Given the description of an element on the screen output the (x, y) to click on. 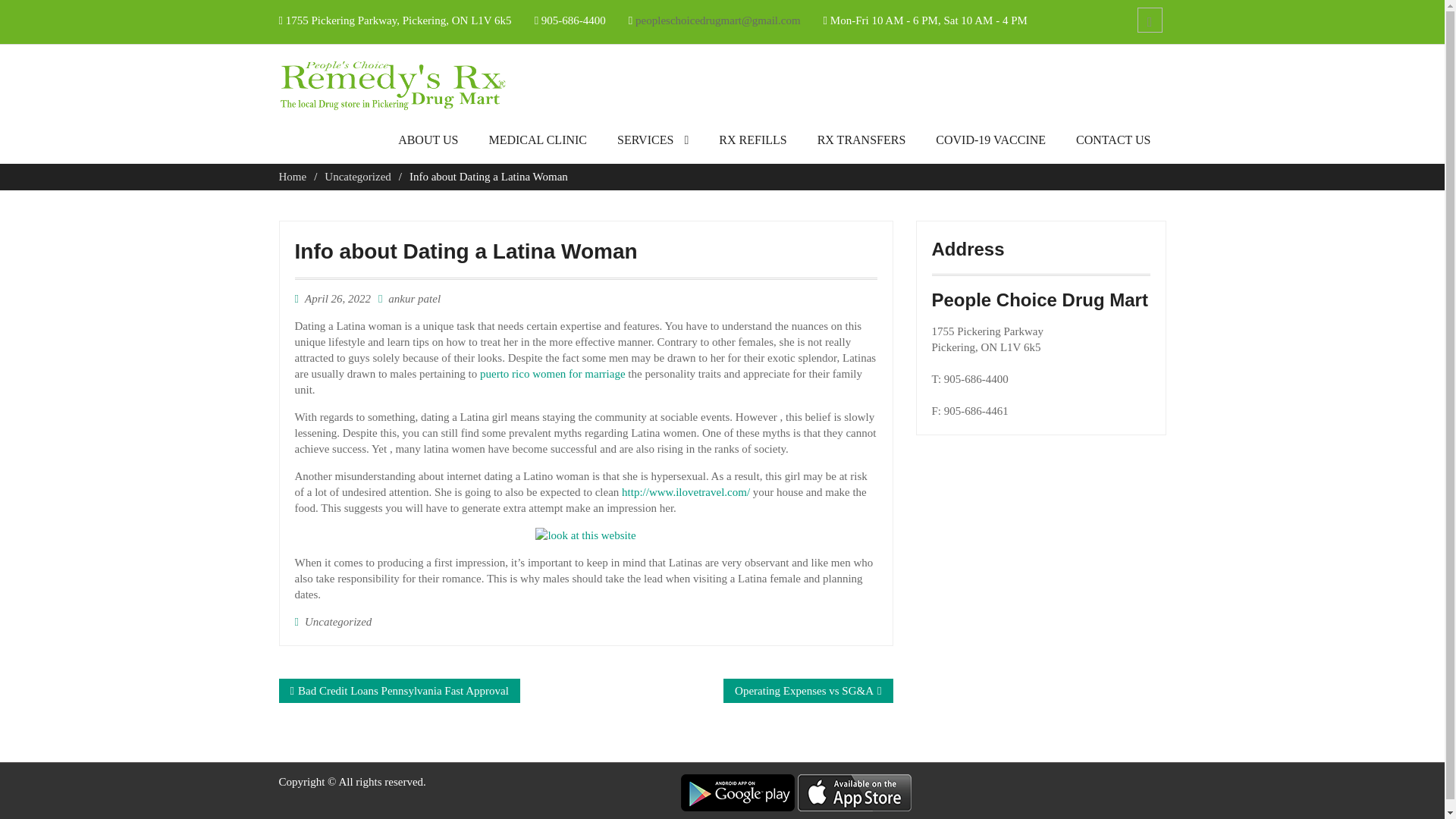
RX REFILLS (752, 143)
COVID-19 VACCINE (990, 143)
ABOUT US (427, 143)
April 26, 2022 (337, 298)
RX TRANSFERS (861, 143)
CONTACT US (1112, 143)
Home (293, 176)
MEDICAL CLINIC (537, 143)
Bad Credit Loans Pennsylvania Fast Approval (403, 690)
ankur patel (414, 298)
